Given the description of an element on the screen output the (x, y) to click on. 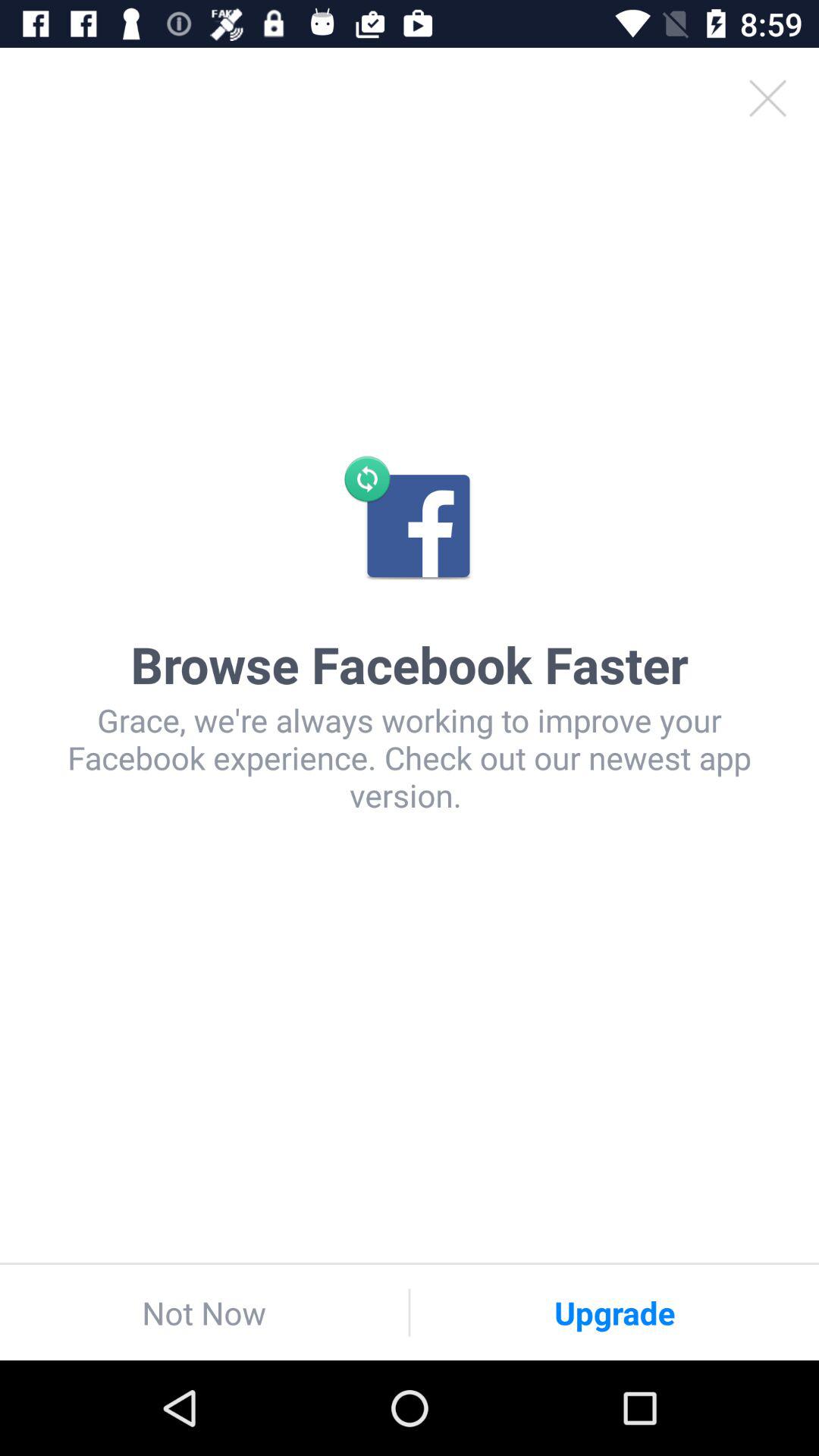
tap the icon at the top right corner (768, 98)
